Given the description of an element on the screen output the (x, y) to click on. 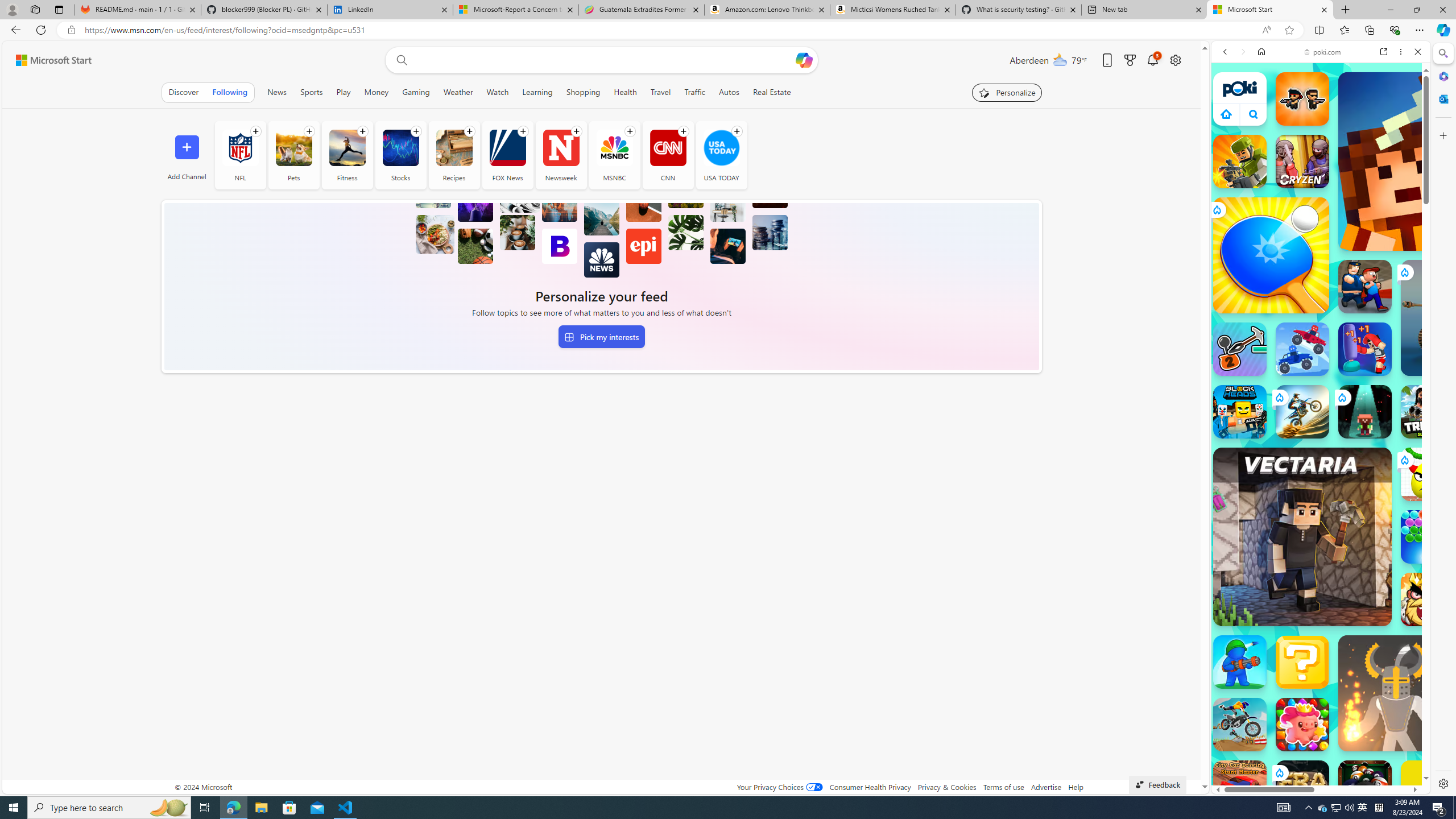
Class: rCs5cyEiqiTpYvt_VBCR (1279, 772)
Add Channel (186, 155)
Ragdoll Hit Ragdoll Hit (1396, 693)
Hills of Steel (1264, 580)
Games for Girls (1320, 407)
Consumer Health Privacy (870, 786)
Kour.io (1239, 161)
Tribals.io Tribals.io (1427, 411)
Gaming (415, 92)
Search results from poki.com (1299, 443)
